Given the description of an element on the screen output the (x, y) to click on. 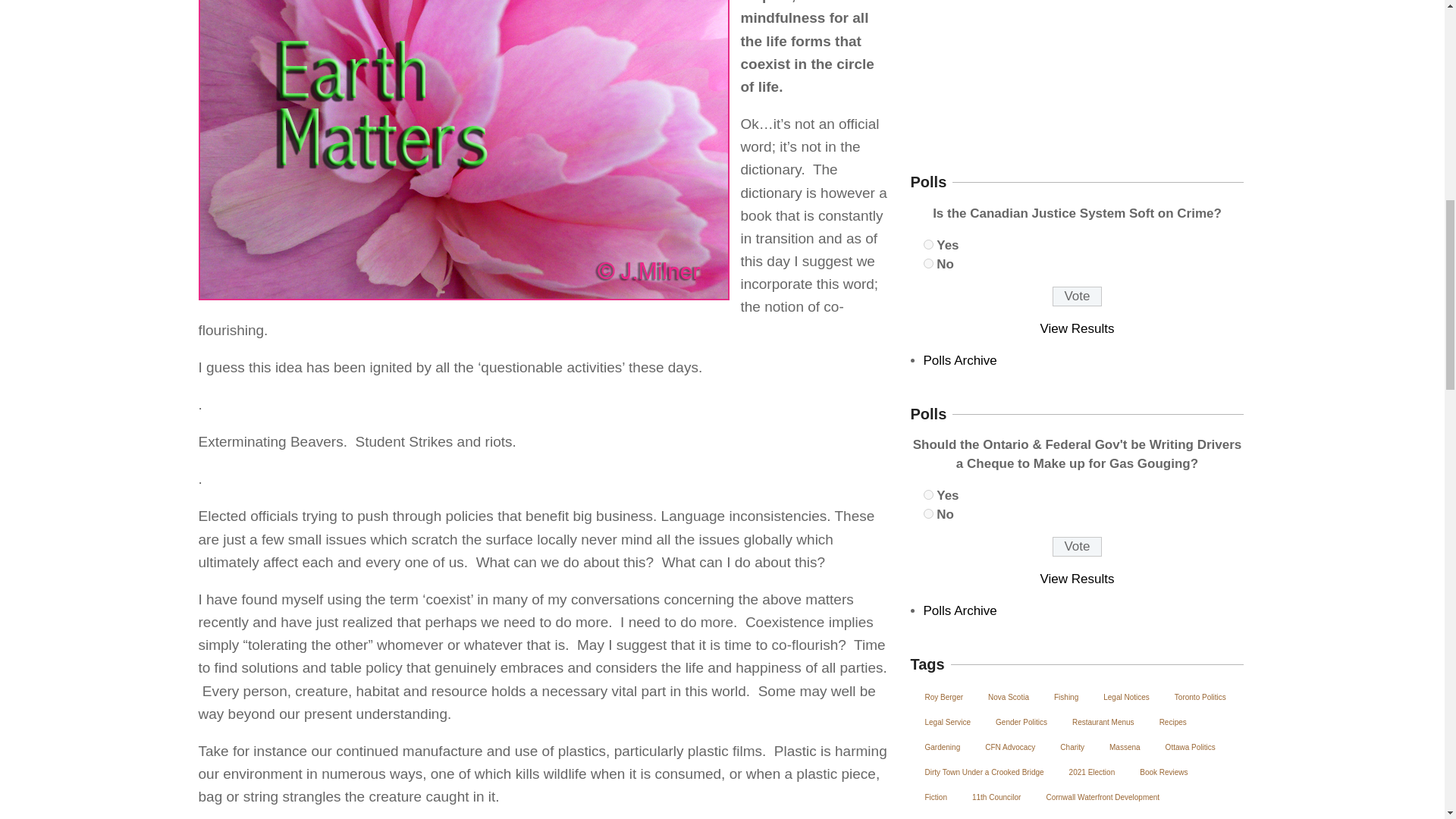
View Results Of This Poll (1078, 328)
1763 (928, 513)
1762 (928, 494)
1754 (928, 244)
View Results Of This Poll (1078, 578)
1755 (928, 263)
   Vote    (1076, 546)
   Vote    (1076, 296)
